Given the description of an element on the screen output the (x, y) to click on. 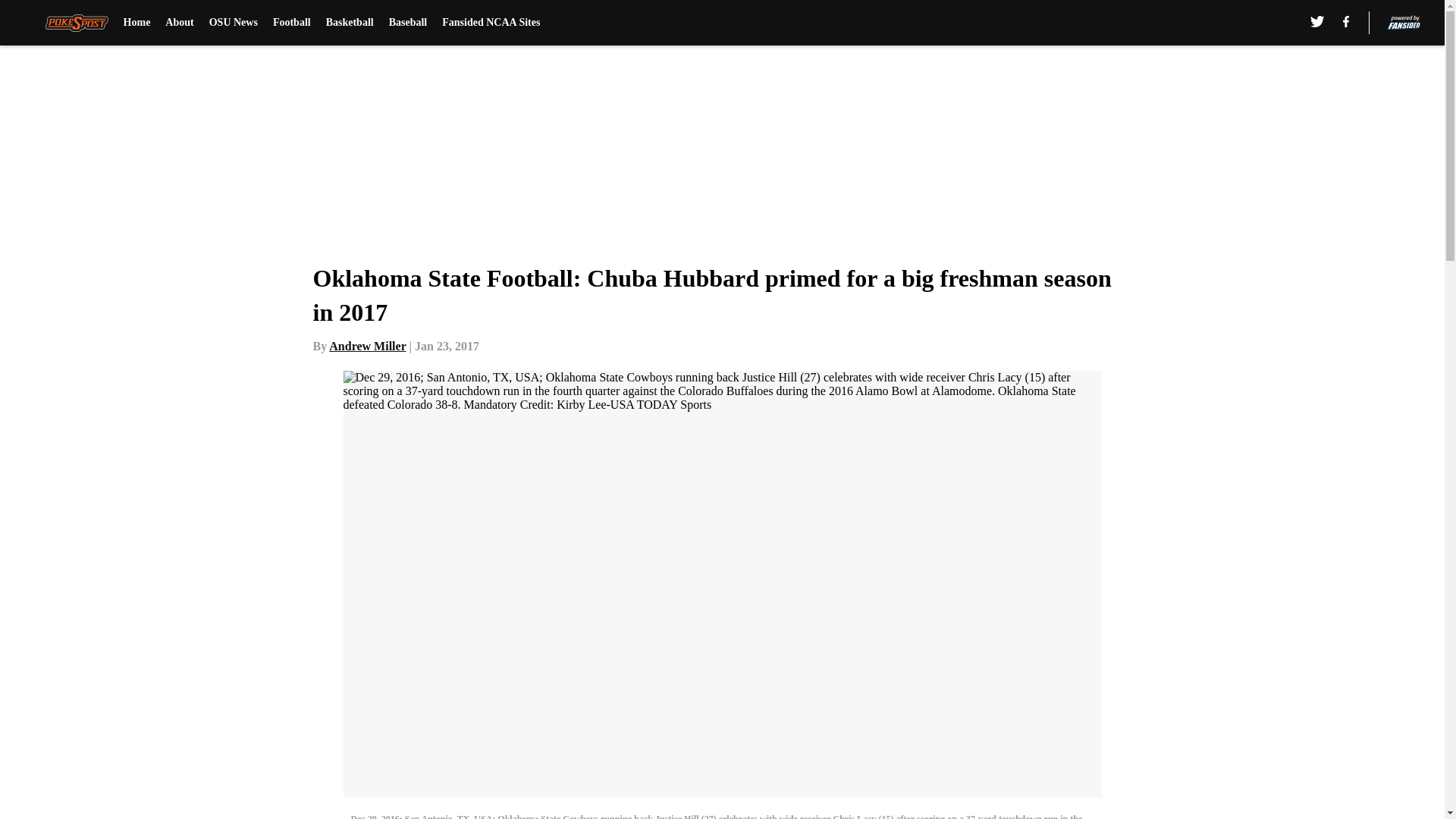
Football (292, 22)
Andrew Miller (367, 345)
Basketball (350, 22)
Baseball (408, 22)
OSU News (233, 22)
About (179, 22)
Home (137, 22)
Fansided NCAA Sites (491, 22)
